Given the description of an element on the screen output the (x, y) to click on. 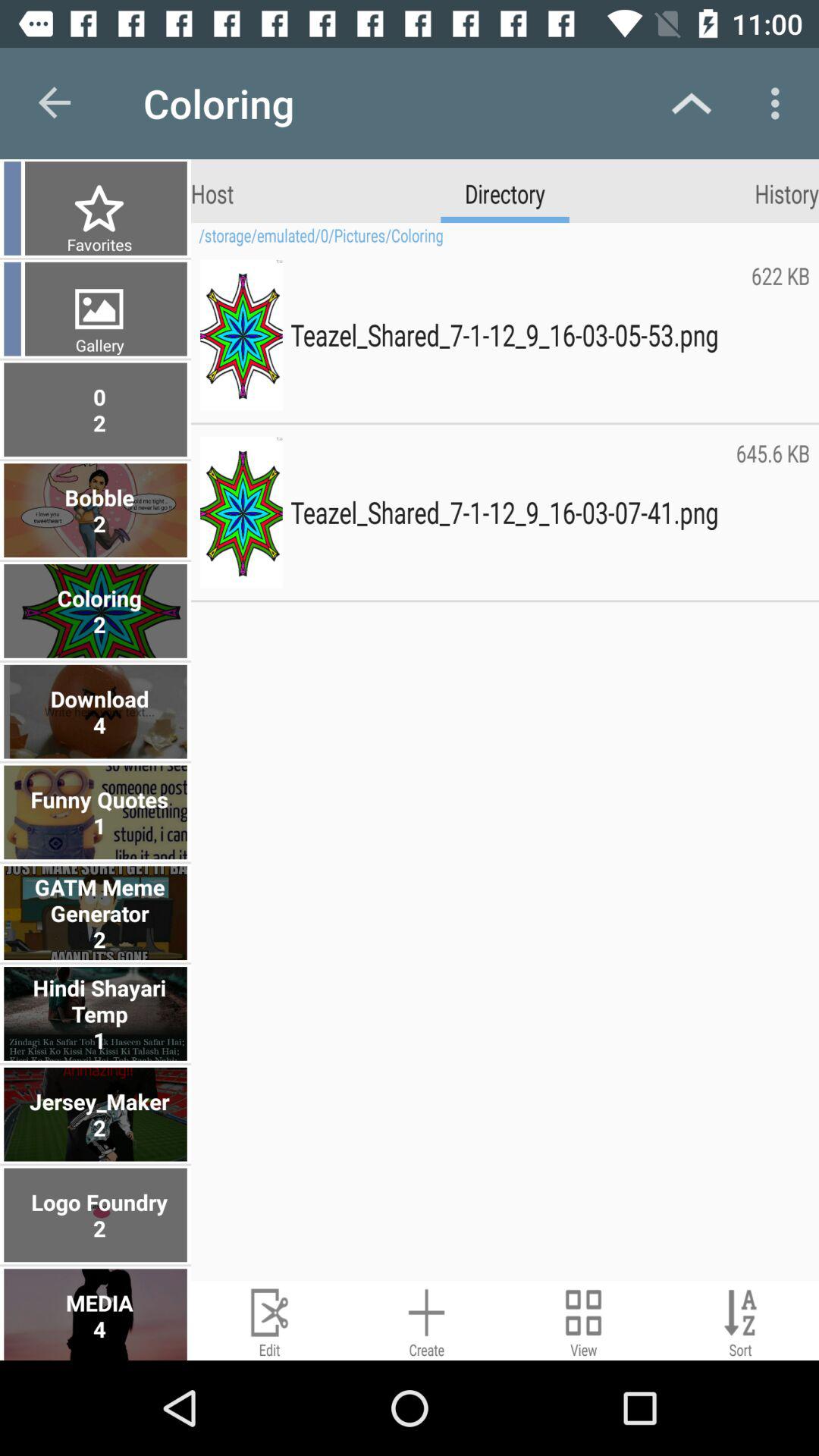
tap the item below the storage emulated 0 (780, 334)
